Given the description of an element on the screen output the (x, y) to click on. 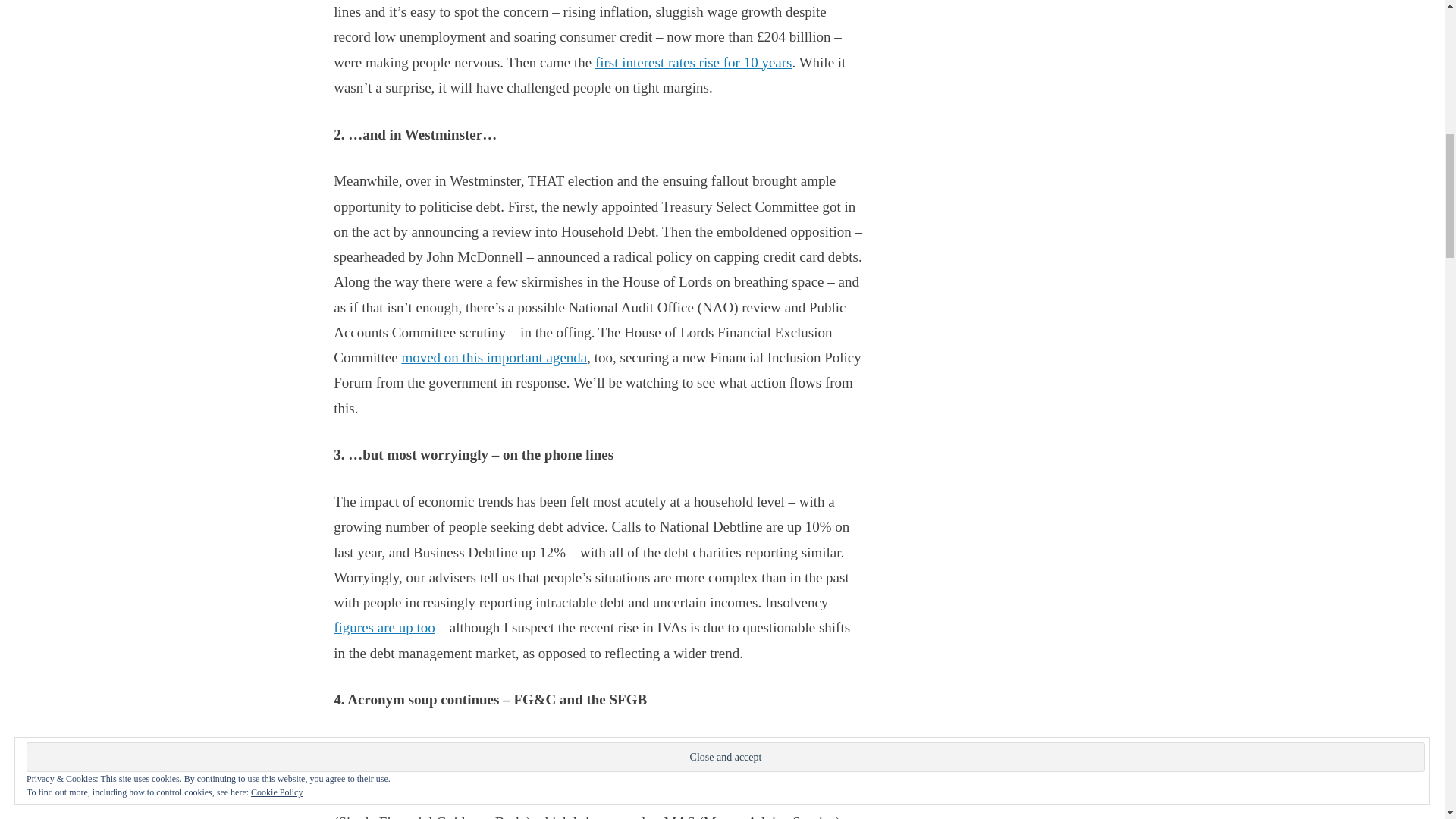
figures are up too (383, 627)
first interest rates rise for 10 years (693, 62)
moved on this important agenda (493, 357)
create the framework for the new SFGB (735, 797)
